Given the description of an element on the screen output the (x, y) to click on. 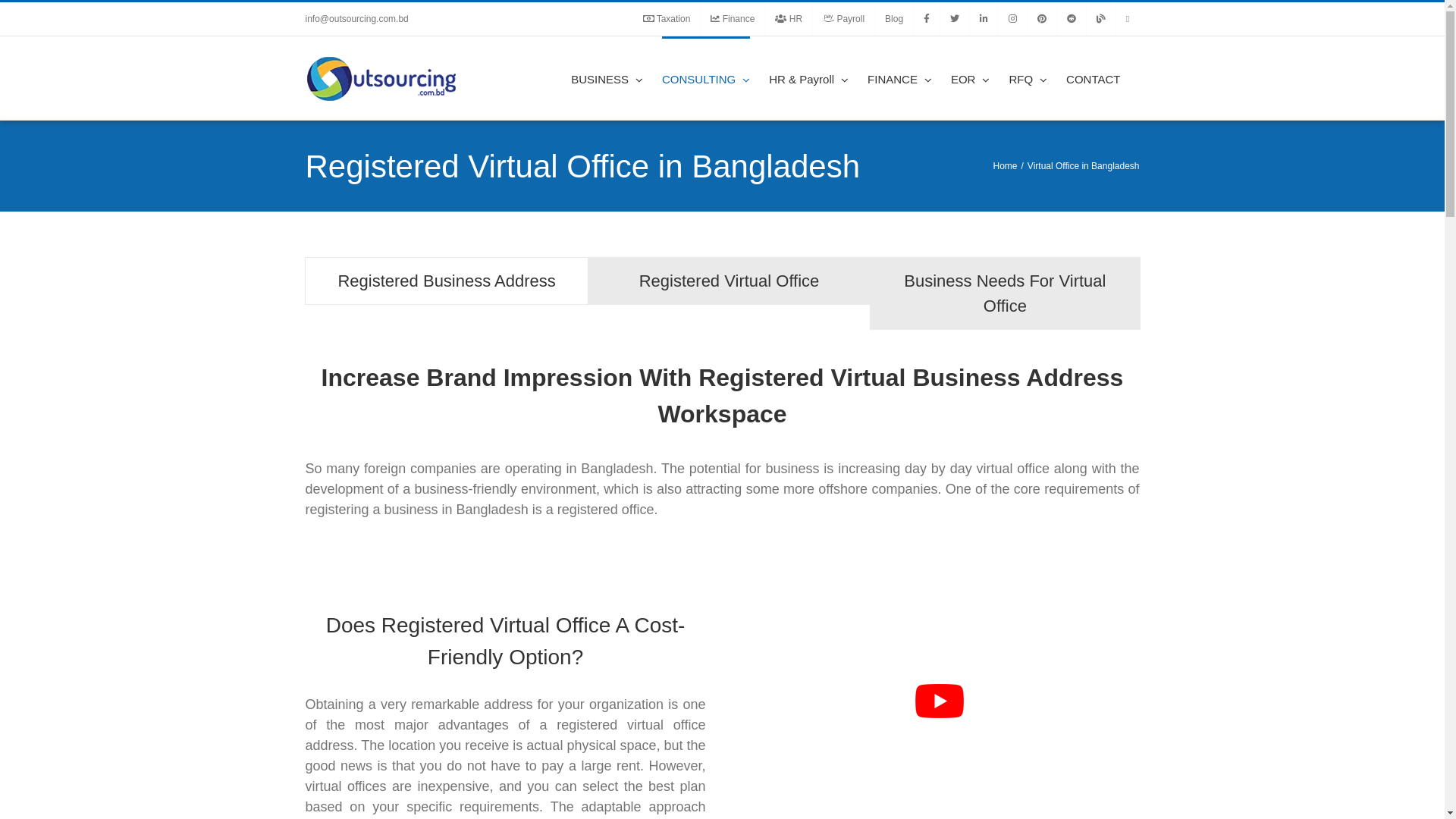
info@outsourcing.com.bd Element type: text (355, 18)
BUSINESS Element type: text (607, 77)
FINANCE Element type: text (899, 77)
EOR Element type: text (970, 77)
Payroll Element type: text (843, 18)
Blog Element type: text (894, 18)
Finance Element type: text (732, 18)
HR Element type: text (788, 18)
RFQ Element type: text (1027, 77)
Business Needs For Virtual Office Element type: text (1004, 293)
Taxation Element type: text (666, 18)
Home Element type: text (1004, 165)
CONTACT Element type: text (1093, 77)
Registered Business Address Element type: text (445, 280)
HR & Payroll Element type: text (808, 77)
Registered Virtual Office Element type: text (728, 280)
CONSULTING Element type: text (705, 77)
